Given the description of an element on the screen output the (x, y) to click on. 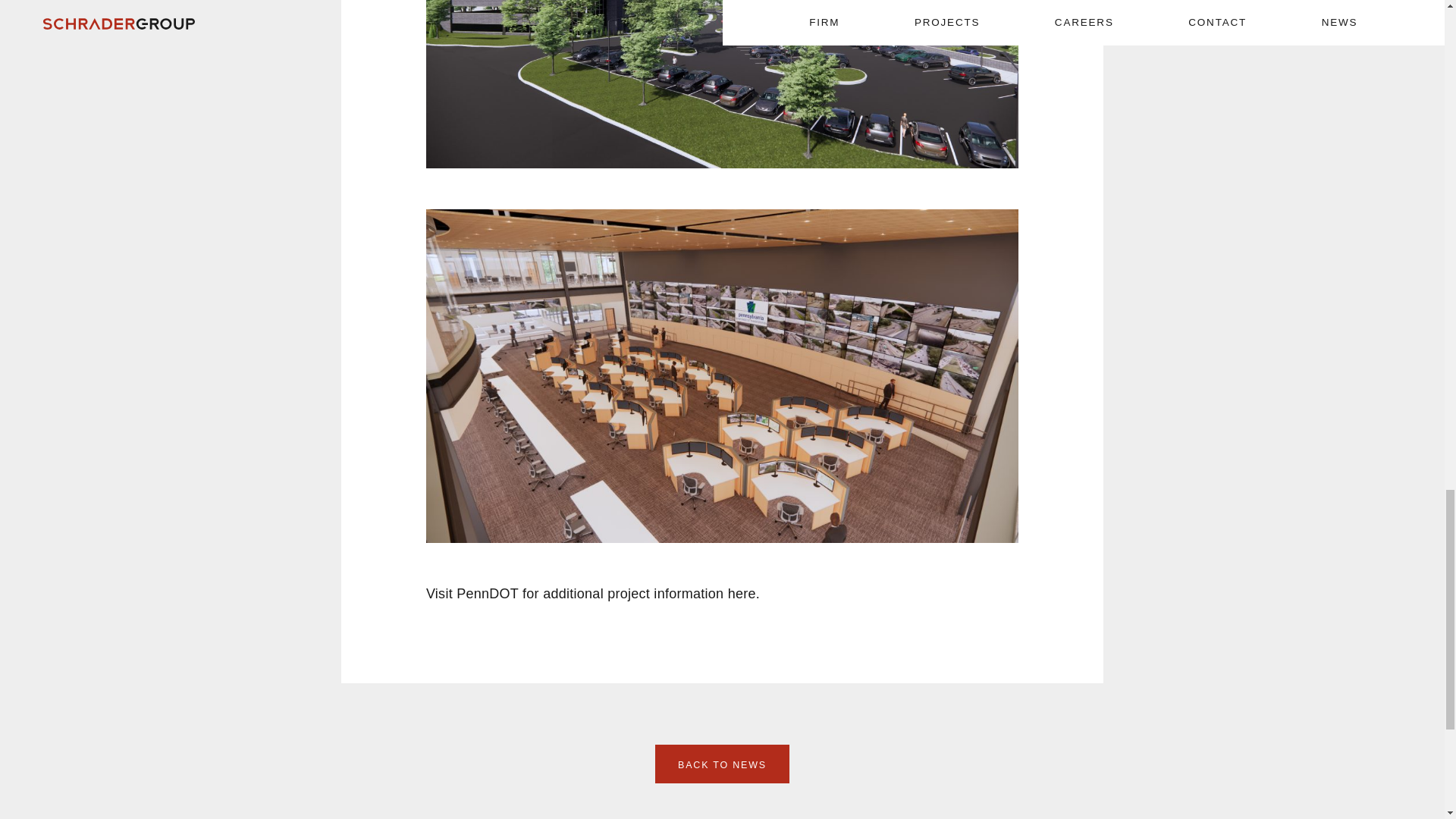
BACK TO NEWS (722, 763)
here (741, 593)
